Given the description of an element on the screen output the (x, y) to click on. 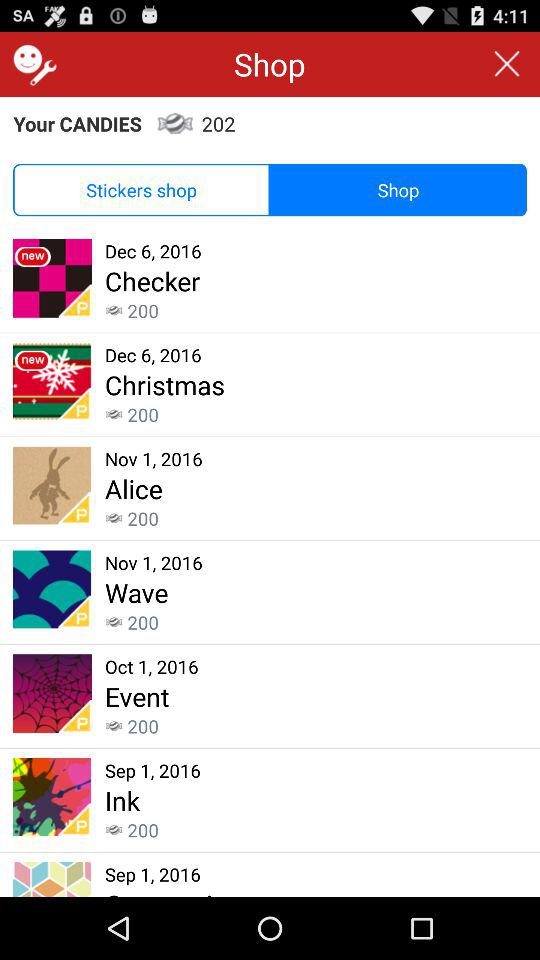
open the item to the left of the shop icon (141, 189)
